Given the description of an element on the screen output the (x, y) to click on. 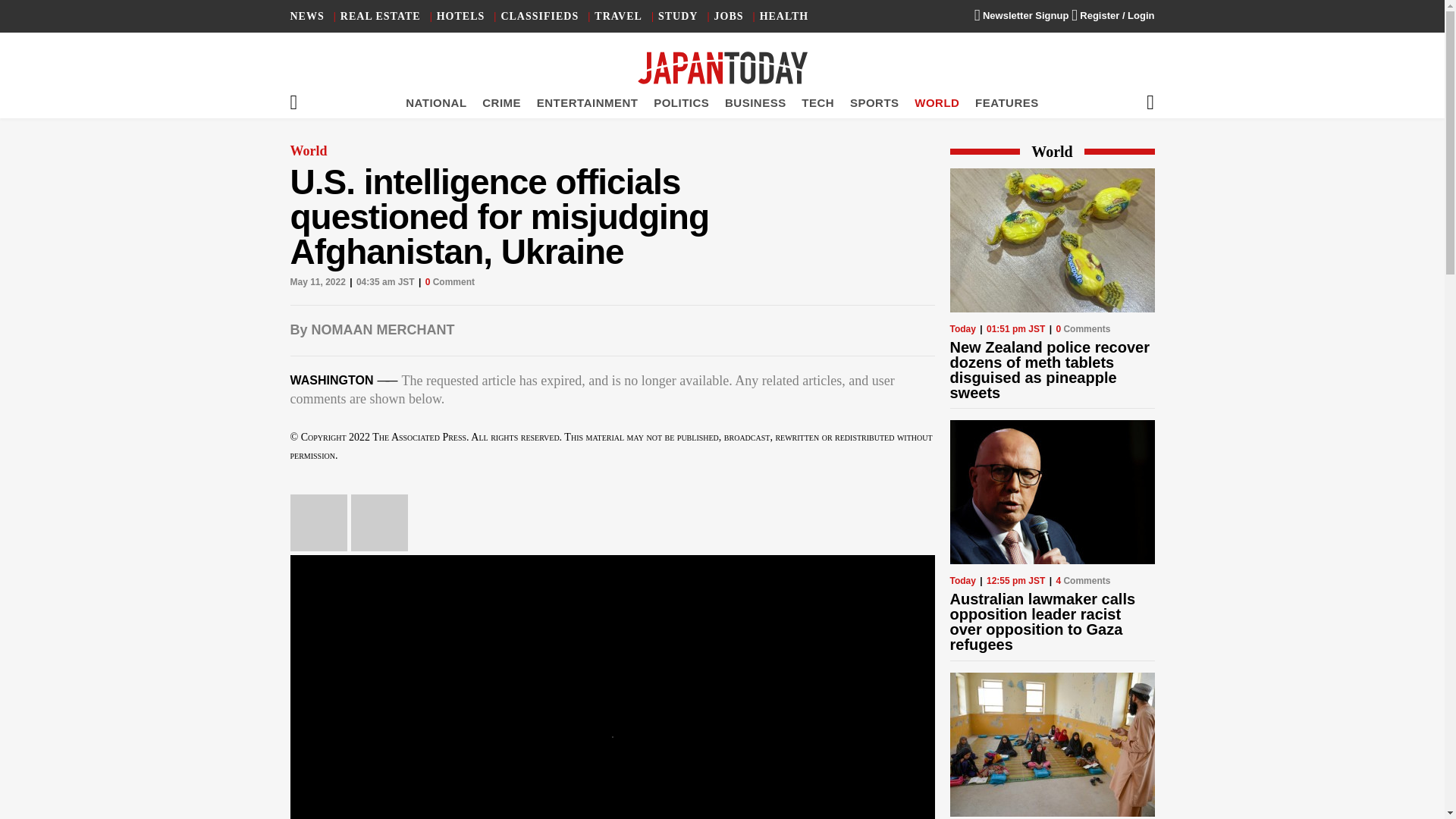
FEATURES (1007, 102)
SPORTS (874, 102)
HEALTH (784, 16)
JOBS (729, 16)
TECH (818, 102)
CRIME (501, 102)
REAL ESTATE (380, 16)
